Given the description of an element on the screen output the (x, y) to click on. 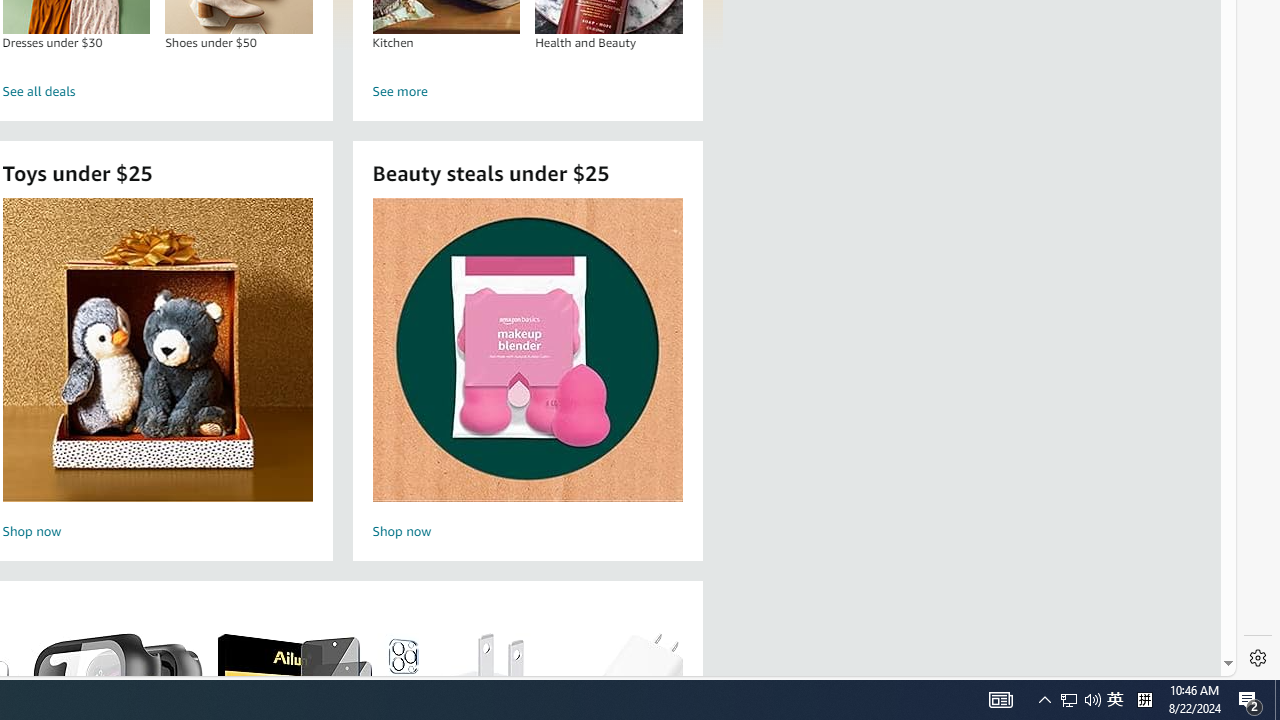
Beauty steals under $25 (526, 349)
Beauty steals under $25 Shop now (527, 371)
See all deals (157, 92)
